Given the description of an element on the screen output the (x, y) to click on. 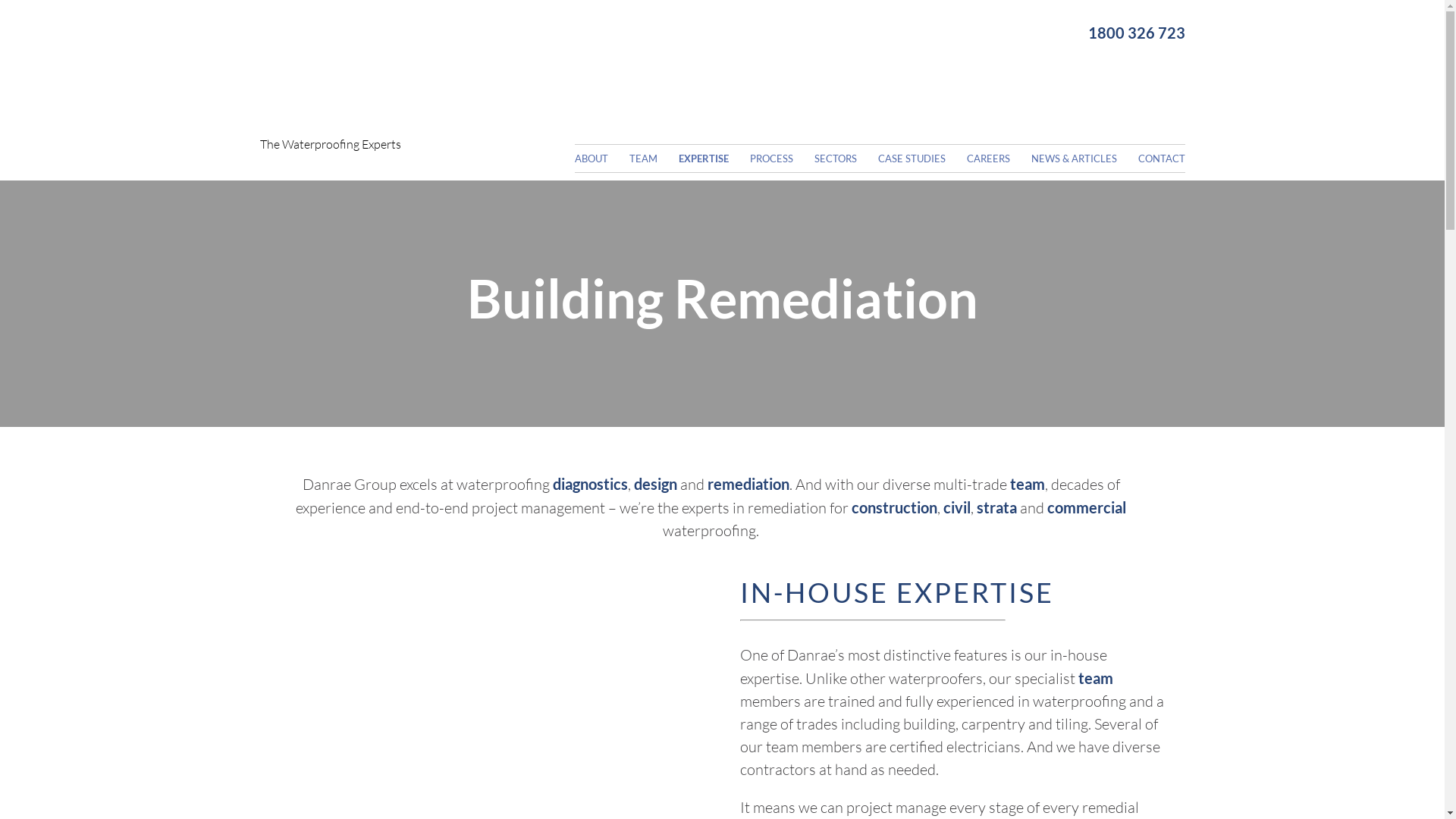
TEAM Element type: text (652, 158)
team Element type: text (1027, 483)
EXPERTISE Element type: text (711, 158)
PROCESS Element type: text (780, 158)
remediation Element type: text (747, 483)
commercial Element type: text (1086, 507)
design Element type: text (655, 483)
strata Element type: text (996, 507)
In house expertise Element type: hover (491, 633)
CONTACT Element type: text (1160, 158)
1800 326 723 Element type: text (1018, 32)
ABOUT Element type: text (600, 158)
civil Element type: text (956, 507)
construction Element type: text (894, 507)
CAREERS Element type: text (997, 158)
CASE STUDIES Element type: text (921, 158)
NEWS & ARTICLES Element type: text (1083, 158)
diagnostics Element type: text (589, 483)
SECTORS Element type: text (844, 158)
team Element type: text (1095, 677)
